Given the description of an element on the screen output the (x, y) to click on. 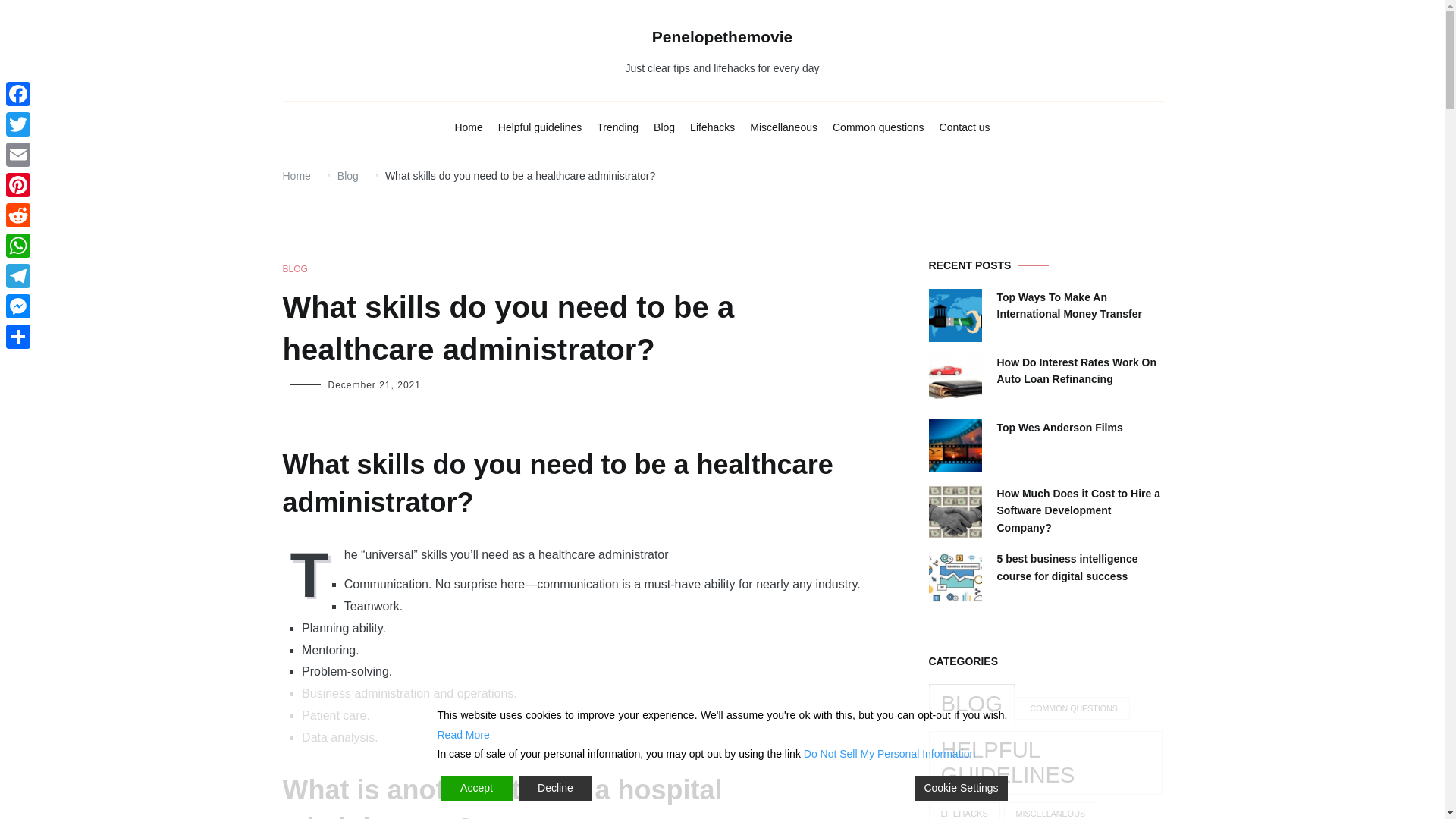
Blog (347, 175)
Miscellaneous (782, 127)
BLOG (294, 269)
Common questions (878, 127)
Home (296, 175)
Trending (617, 127)
T (312, 572)
Lifehacks (712, 127)
Penelopethemovie (722, 36)
December 21, 2021 (373, 385)
